Given the description of an element on the screen output the (x, y) to click on. 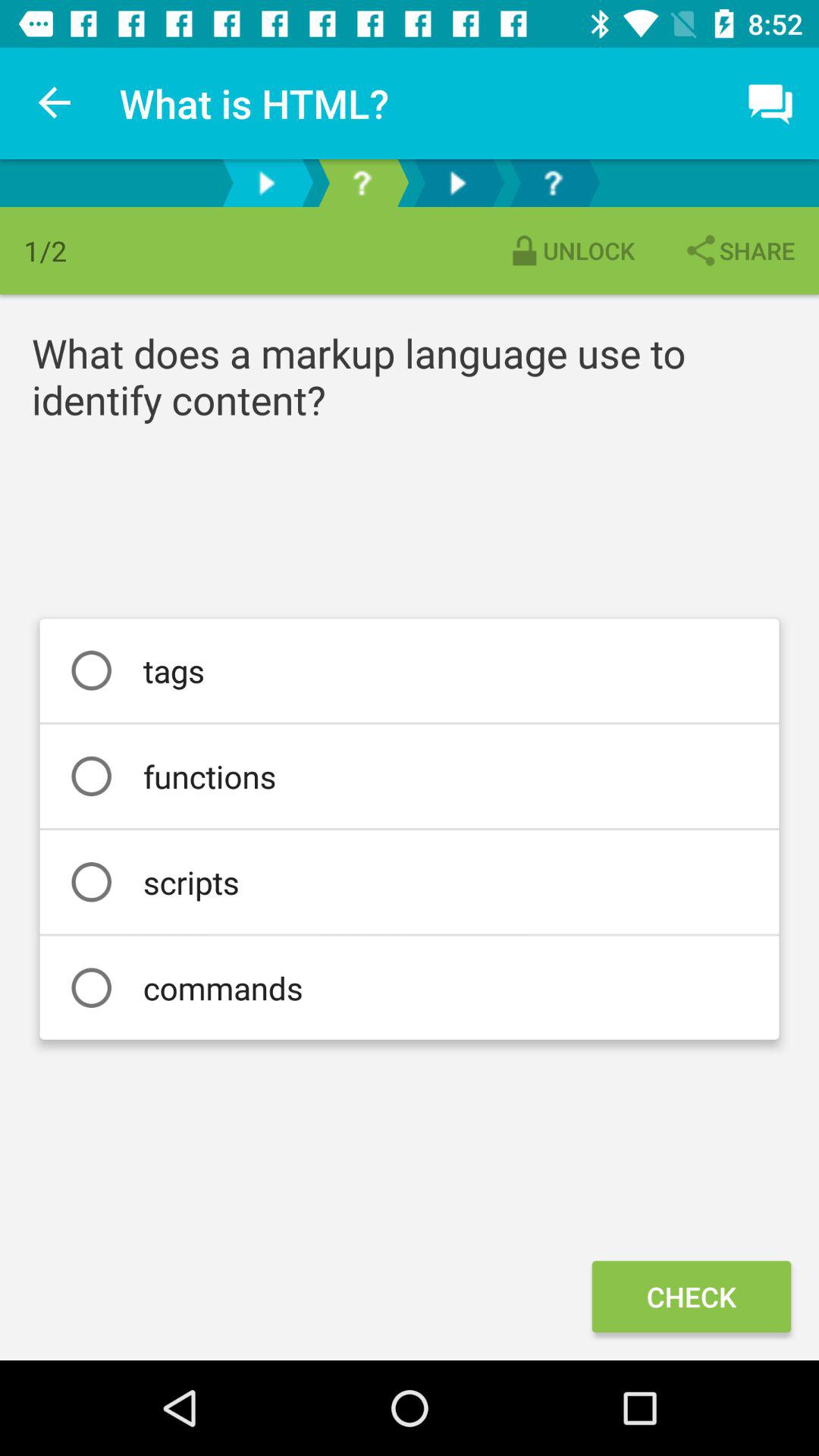
select item to the left of the share item (570, 250)
